Given the description of an element on the screen output the (x, y) to click on. 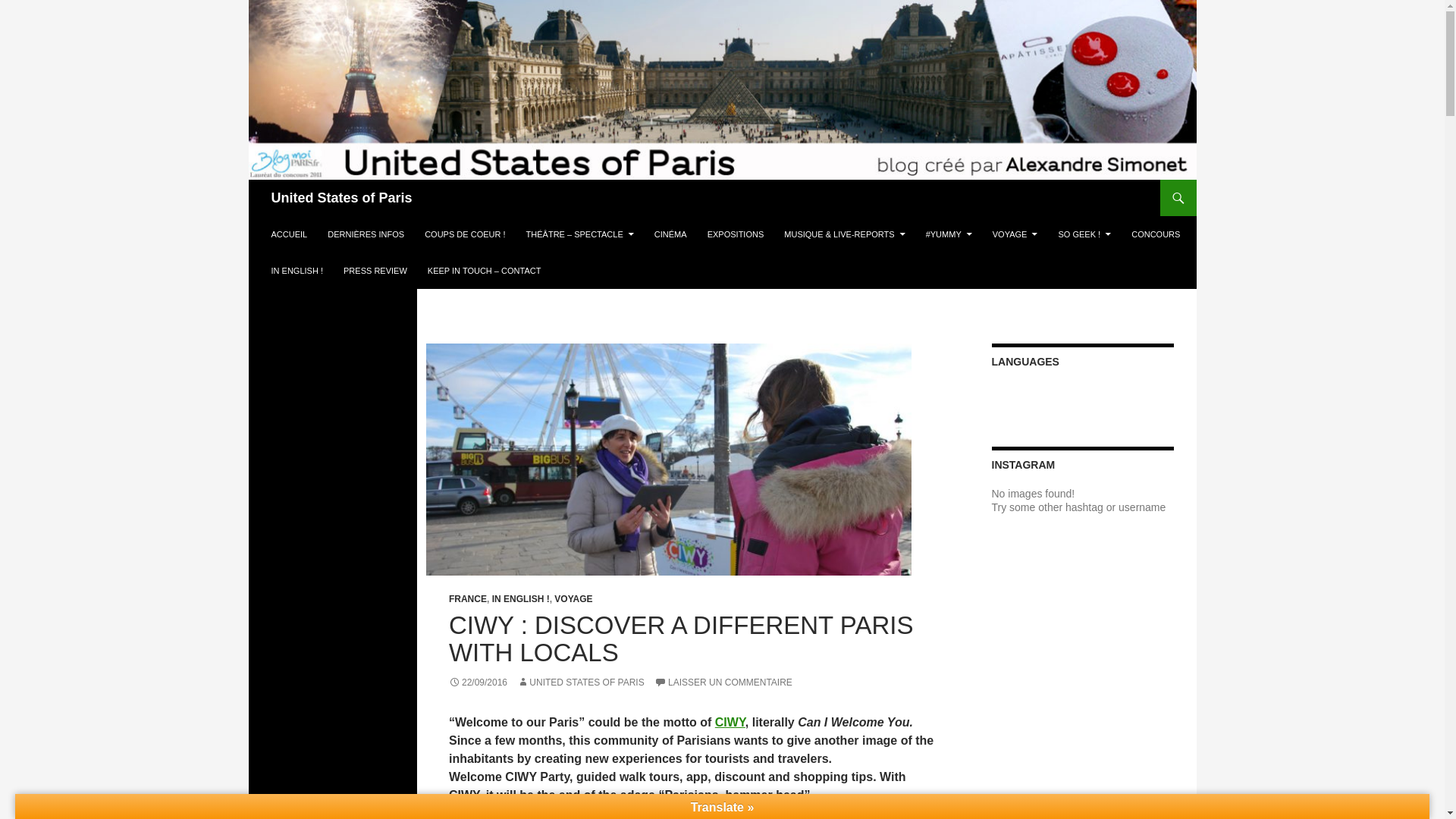
FRANCE (467, 598)
United States of Paris (341, 197)
EXPOSITIONS (735, 234)
ACCUEIL (289, 234)
VOYAGE (1015, 234)
COUPS DE COEUR ! (463, 234)
PRESS REVIEW (375, 270)
IN ENGLISH ! (521, 598)
IN ENGLISH ! (296, 270)
SO GEEK ! (1085, 234)
